Given the description of an element on the screen output the (x, y) to click on. 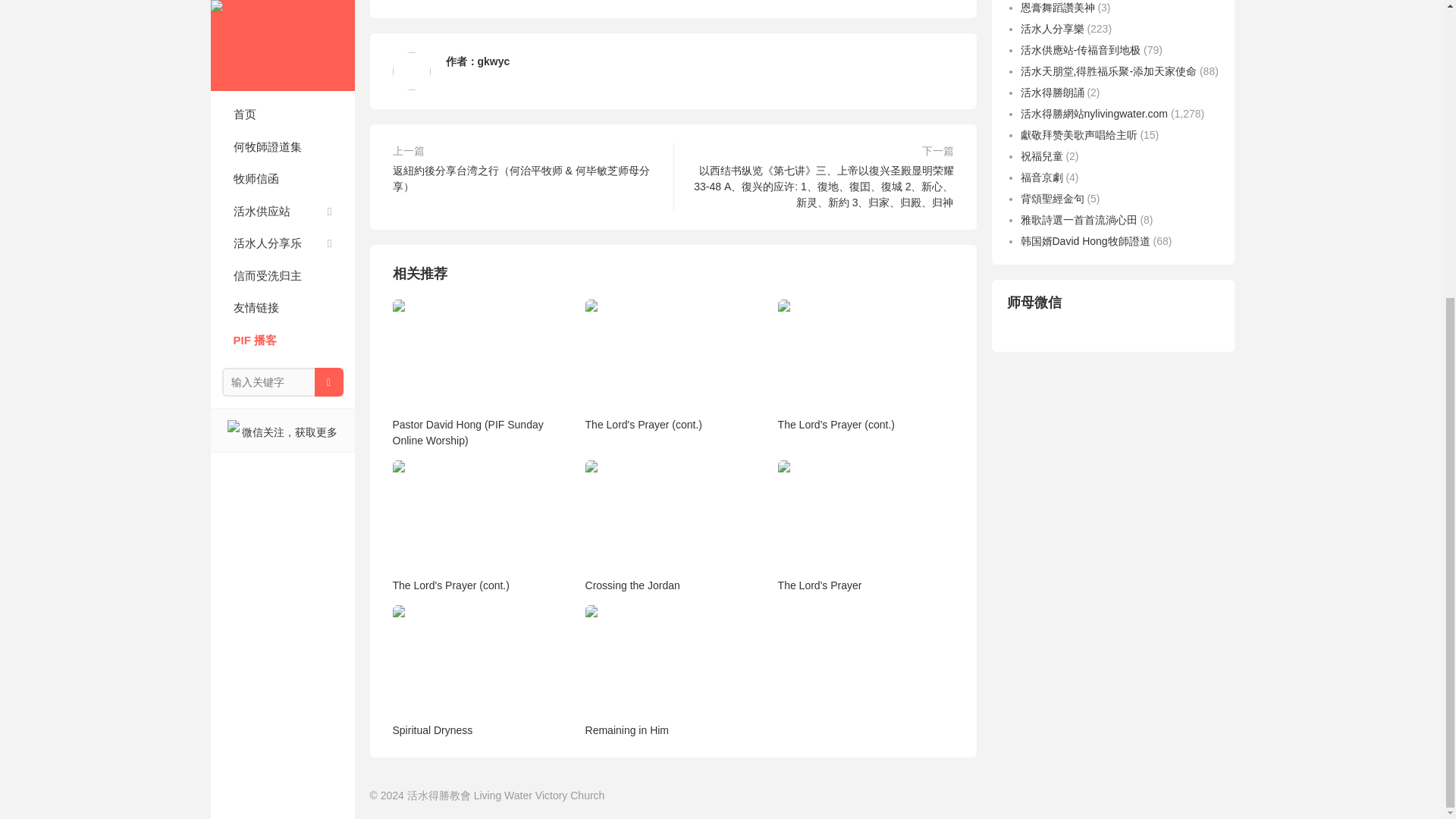
gkwyc (494, 61)
Spiritual Dryness (480, 670)
The Lord's Prayer (865, 525)
Crossing the Jordan (672, 525)
